Given the description of an element on the screen output the (x, y) to click on. 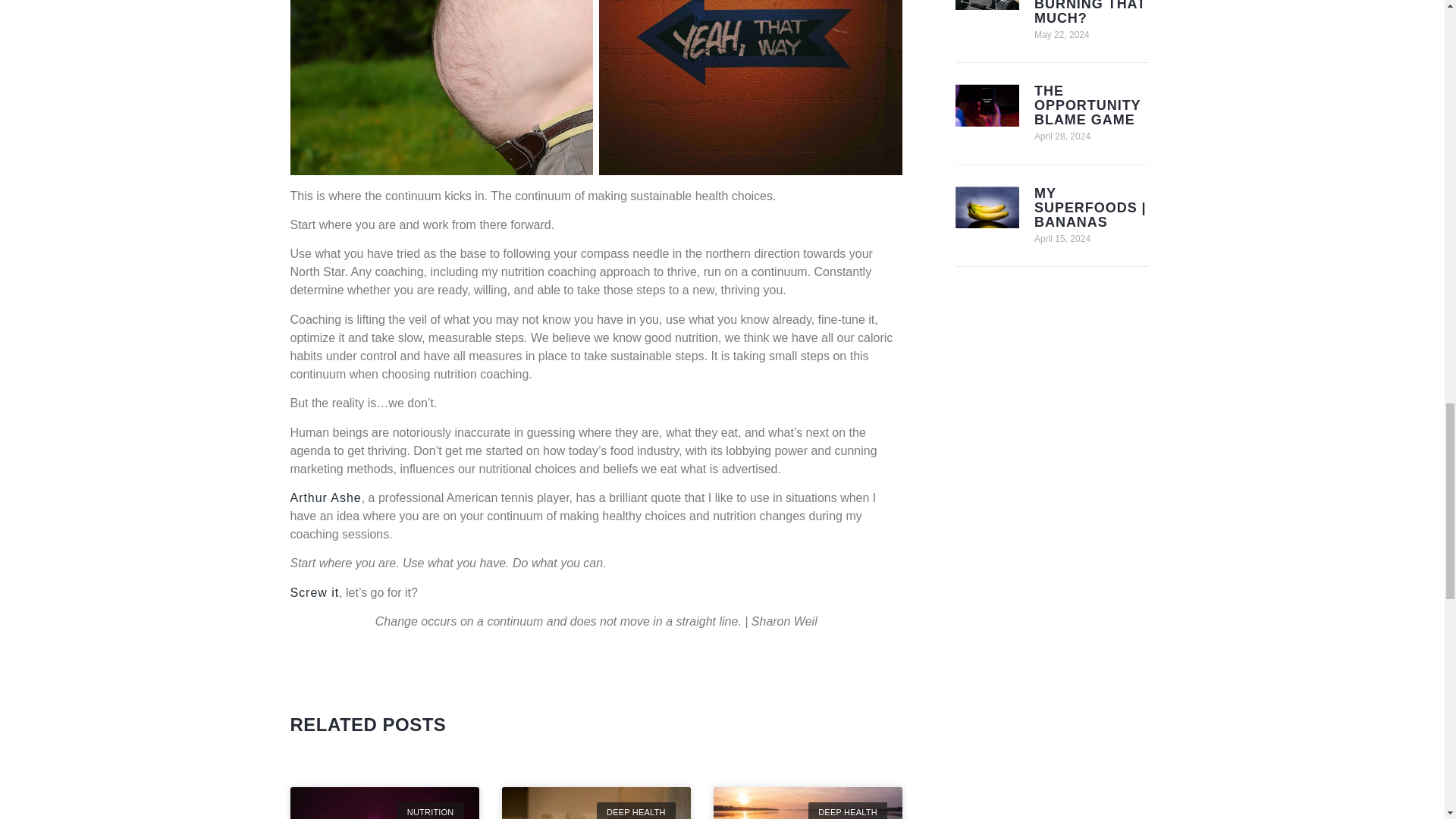
ARE YOU REALLY BURNING THAT MUCH? (1089, 12)
Arthur Ashe (325, 497)
Screw it (314, 592)
